Given the description of an element on the screen output the (x, y) to click on. 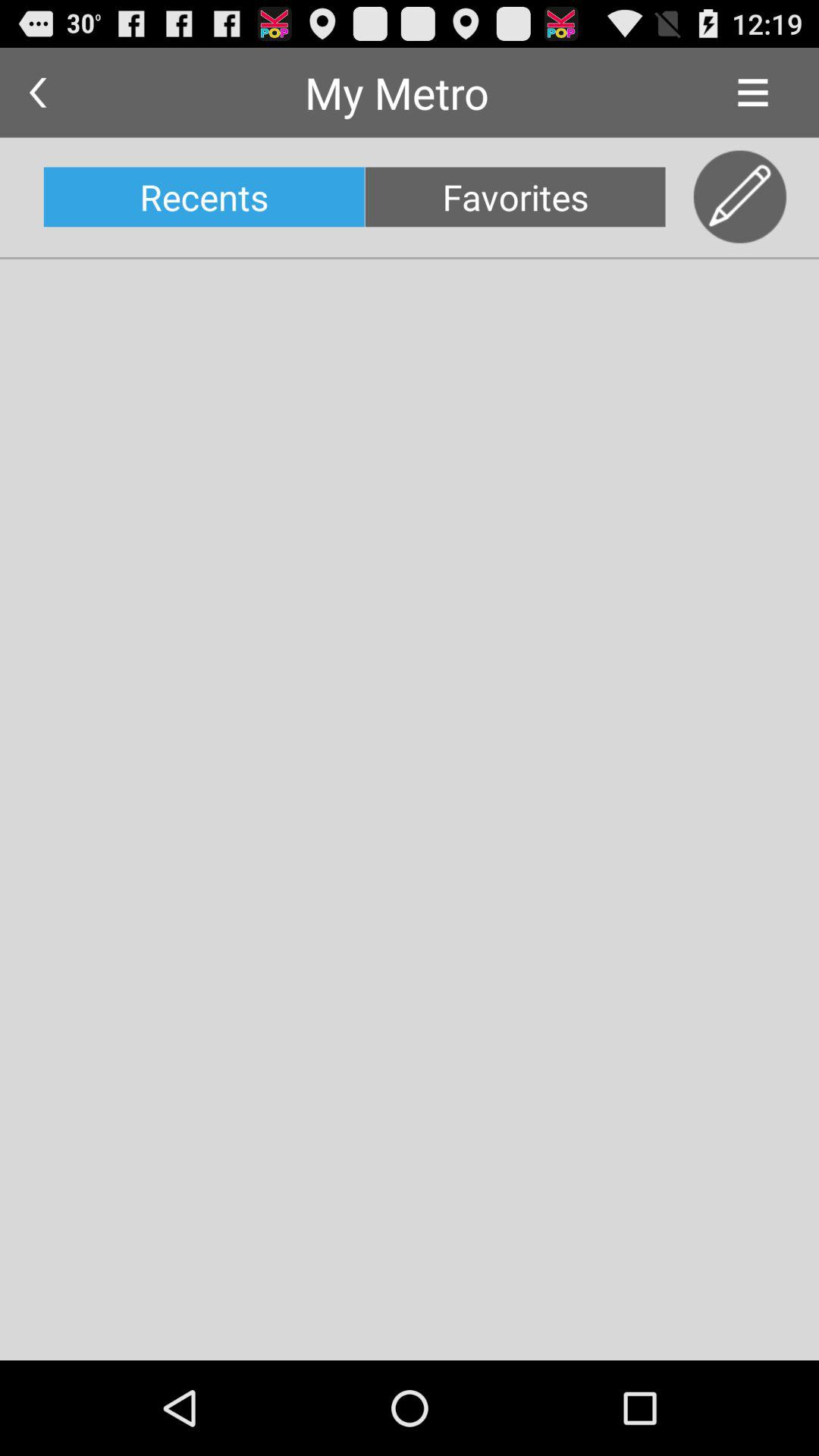
click the app next to the my metro icon (37, 92)
